Given the description of an element on the screen output the (x, y) to click on. 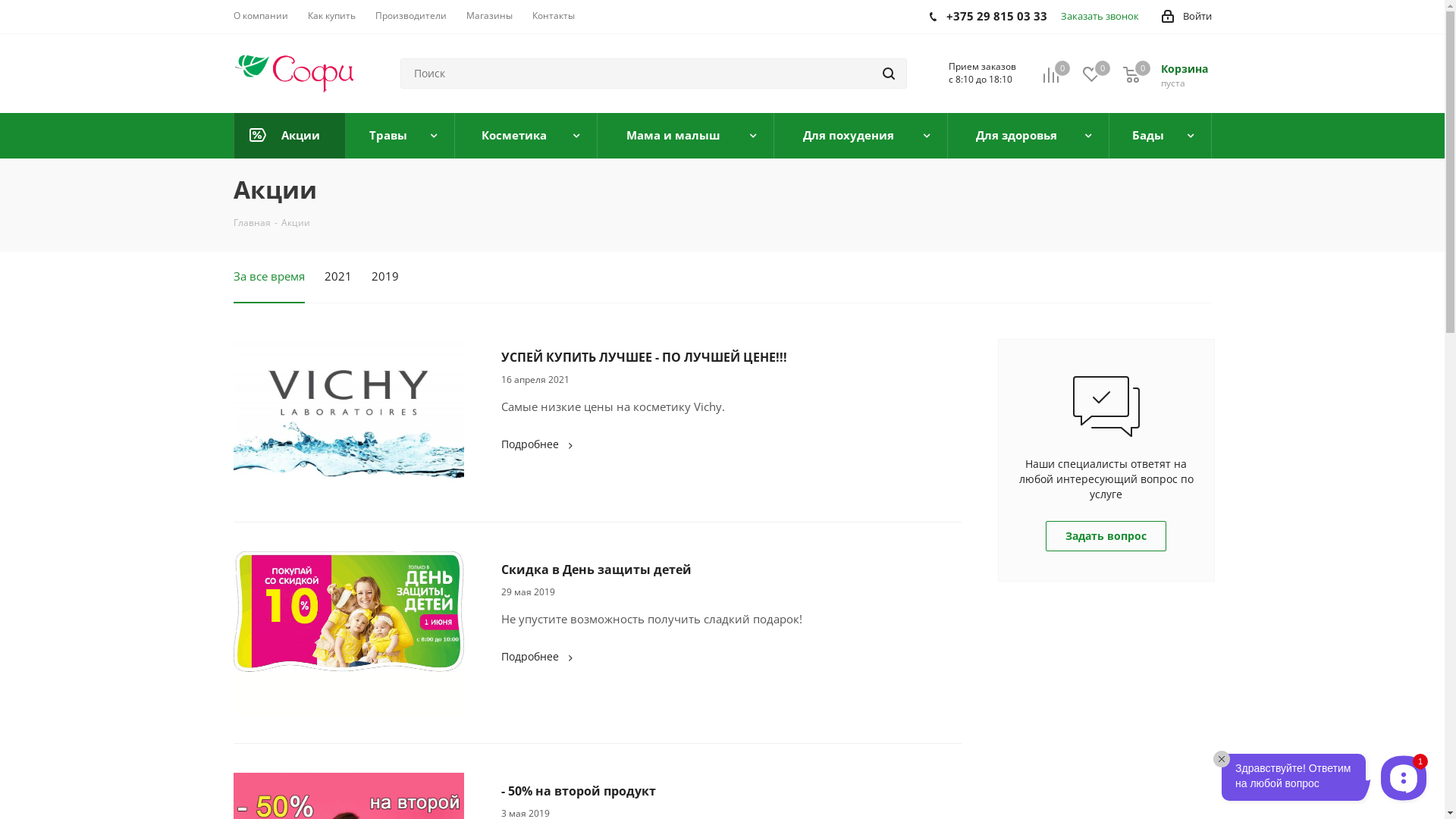
Sofishop.by Element type: hover (293, 73)
__replain_widget_iframe Element type: hover (1319, 774)
2021 Element type: text (337, 281)
2019 Element type: text (384, 281)
